Given the description of an element on the screen output the (x, y) to click on. 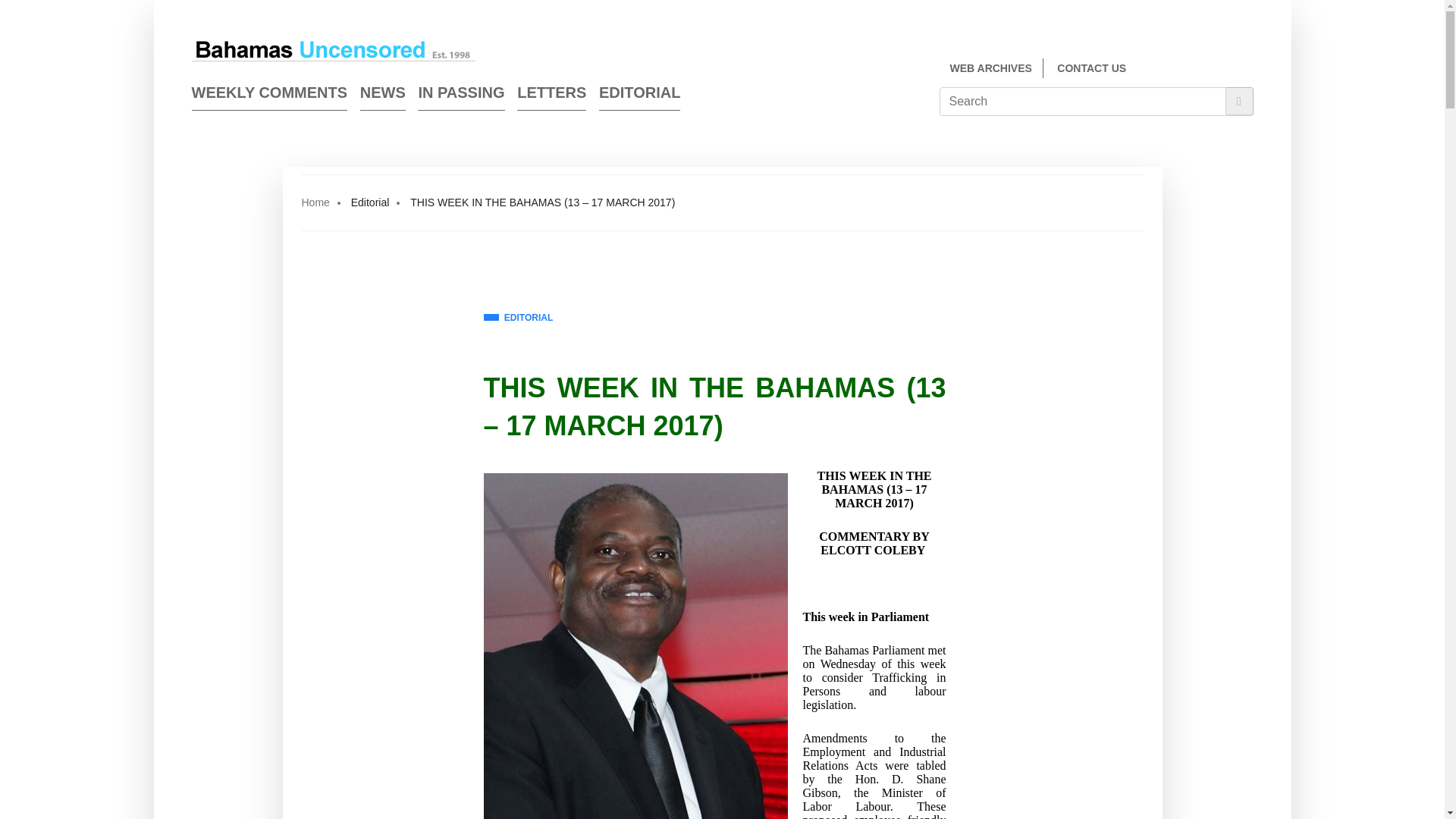
IN PASSING (460, 95)
WEB ARCHIVES (989, 67)
Home (315, 202)
WEEKLY COMMENTS (268, 95)
EDITORIAL (518, 318)
CONTACT US (1091, 67)
Twitter (1246, 69)
NEWS (382, 95)
LETTERS (551, 95)
EDITORIAL (638, 95)
Face Book (1218, 69)
